Given the description of an element on the screen output the (x, y) to click on. 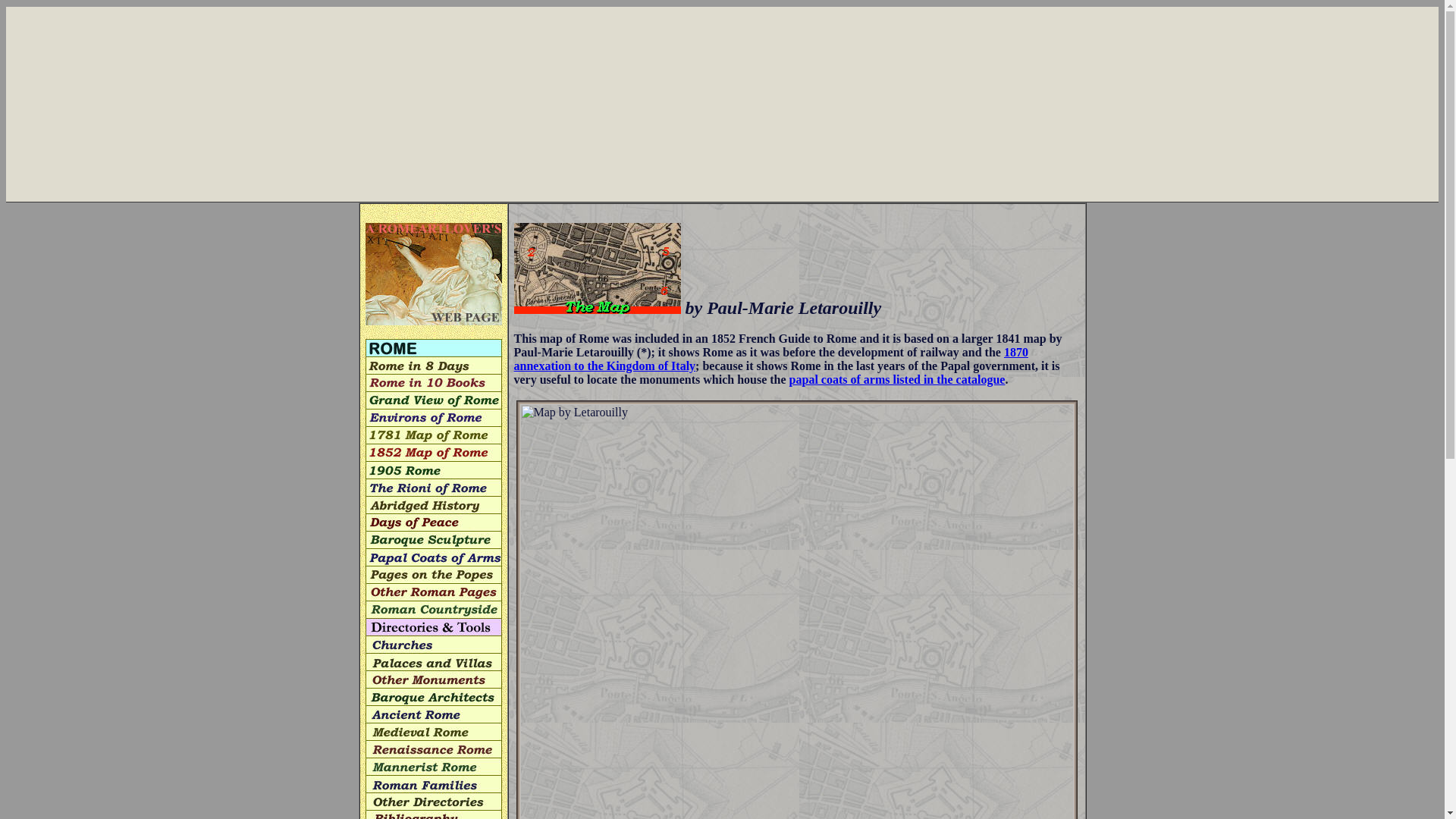
1870 annexation to the Kingdom of Italy (770, 358)
papal coats of arms listed in the catalogue (897, 379)
Home (433, 273)
